Given the description of an element on the screen output the (x, y) to click on. 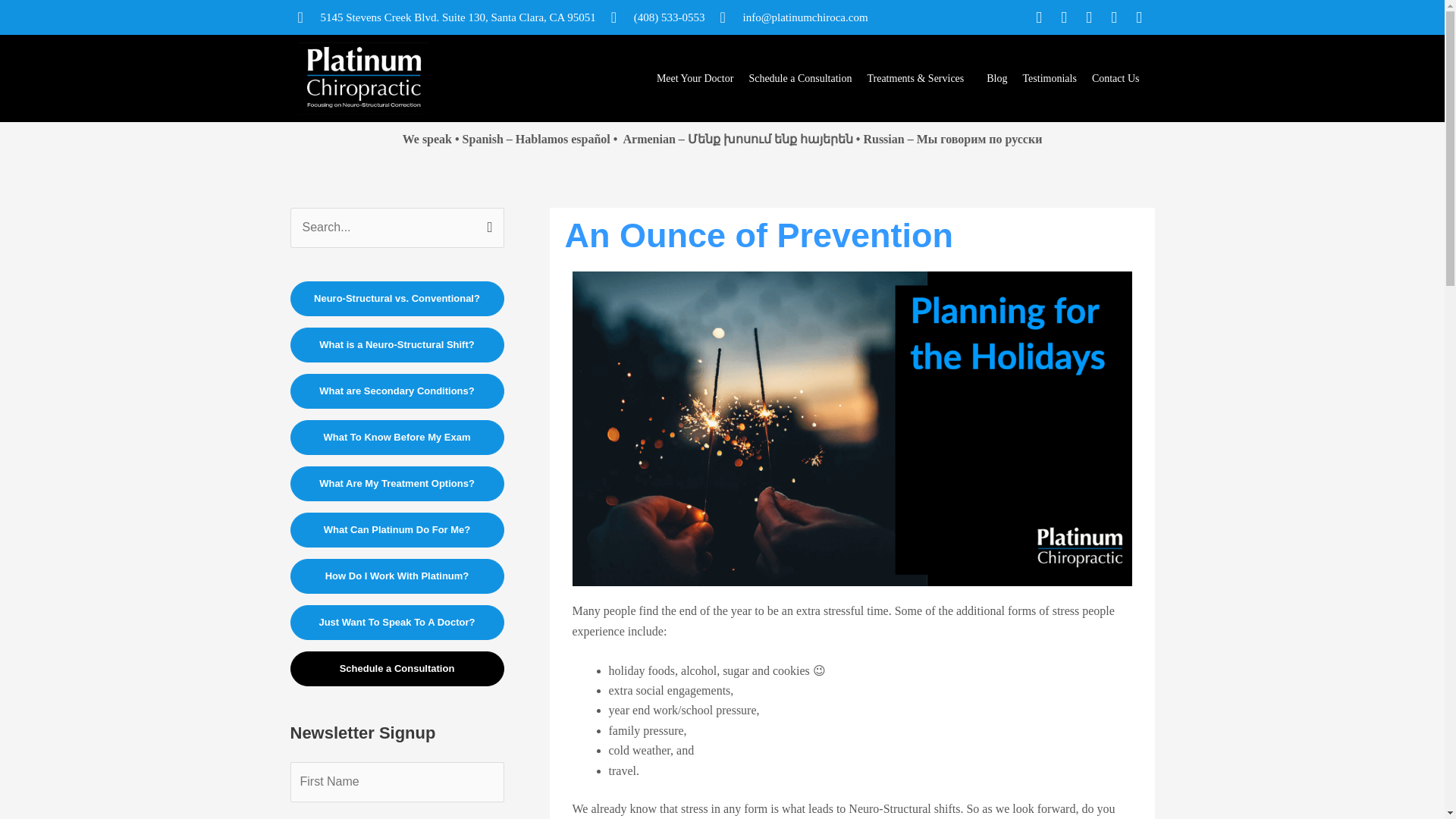
Facebook (1038, 17)
Neuro-Structural vs. Conventional? (396, 298)
Contact Us (1115, 78)
What is a Neuro-Structural Shift? (396, 344)
Instagram (1063, 17)
What Can Platinum Do For Me? (396, 529)
What To Know Before My Exam (396, 437)
What are Secondary Conditions? (396, 390)
Linkedin (1113, 17)
Testimonials (1049, 78)
How Do I Work With Platinum? (396, 575)
Schedule a Consultation (800, 78)
What Are My Treatment Options? (396, 483)
Blog (996, 78)
5145 Stevens Creek Blvd. Suite 130, Santa Clara, CA 95051 (446, 17)
